Given the description of an element on the screen output the (x, y) to click on. 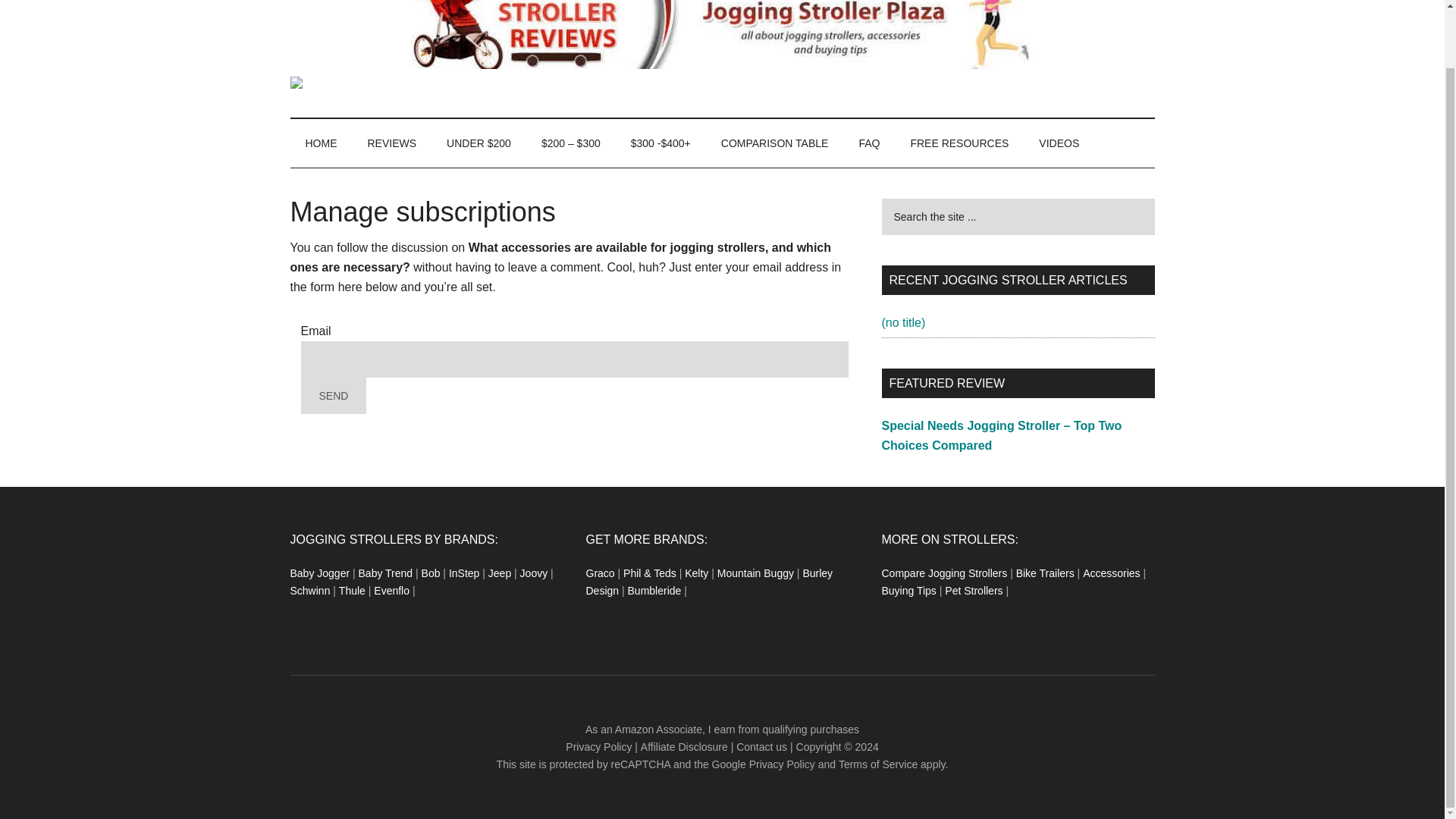
VIDEOS (1058, 142)
InStep (463, 573)
REVIEWS (391, 142)
HOME (320, 142)
Bike Trailers (1045, 573)
FREE RESOURCES (959, 142)
Send (332, 395)
Jeep (499, 573)
FAQ (869, 142)
Evenflo (391, 590)
Accessories (1111, 573)
Buying Tips (908, 590)
Bob (431, 573)
